Given the description of an element on the screen output the (x, y) to click on. 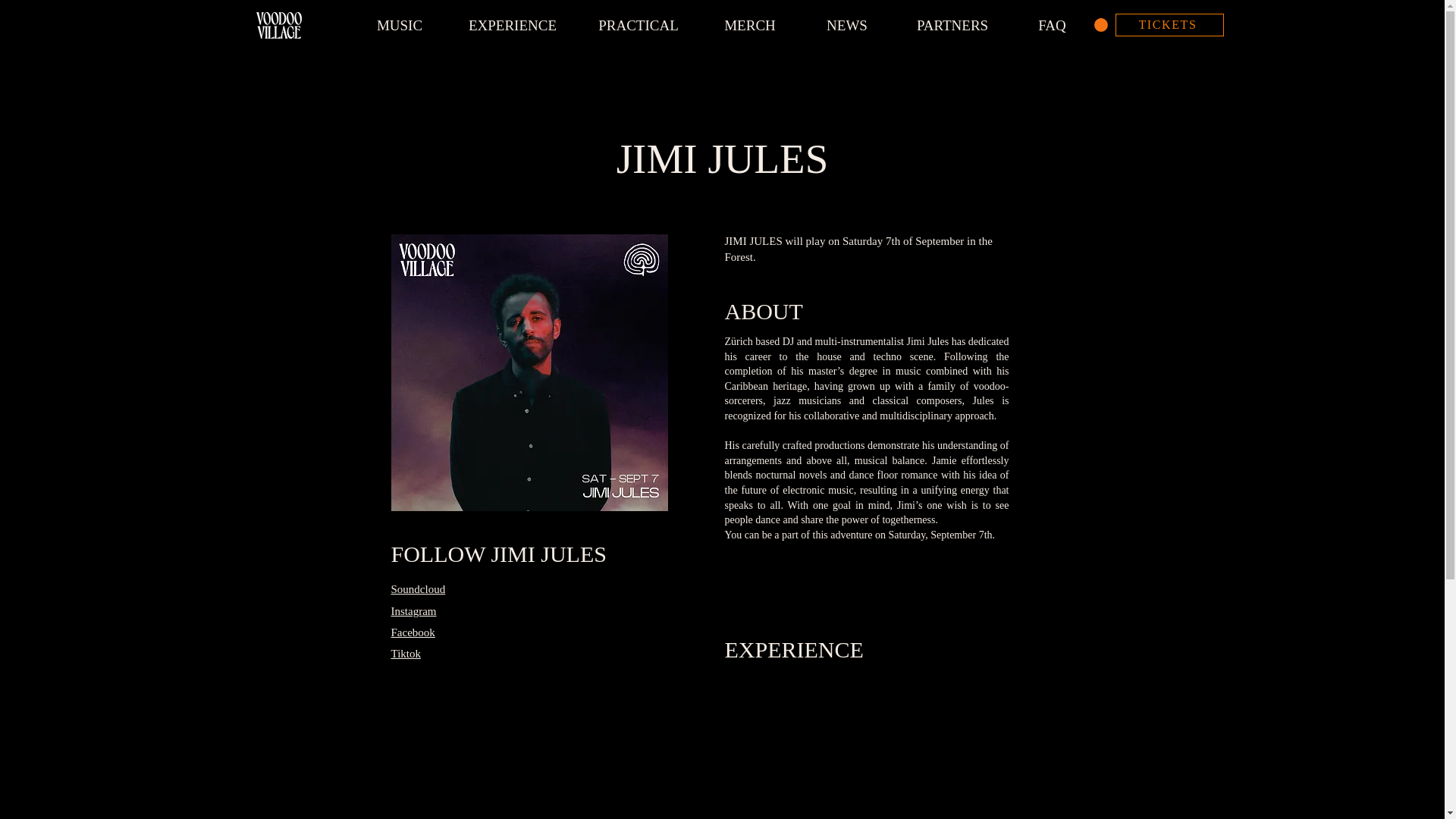
NEWS (846, 25)
PRACTICAL (639, 25)
Facebook (413, 632)
MUSIC (400, 25)
Soundcloud (418, 589)
Instagram (413, 611)
MERCH (748, 25)
EXPERIENCE (511, 25)
PARTNERS (951, 25)
FAQ (1052, 25)
Tiktok (405, 653)
TICKETS (1169, 24)
